Given the description of an element on the screen output the (x, y) to click on. 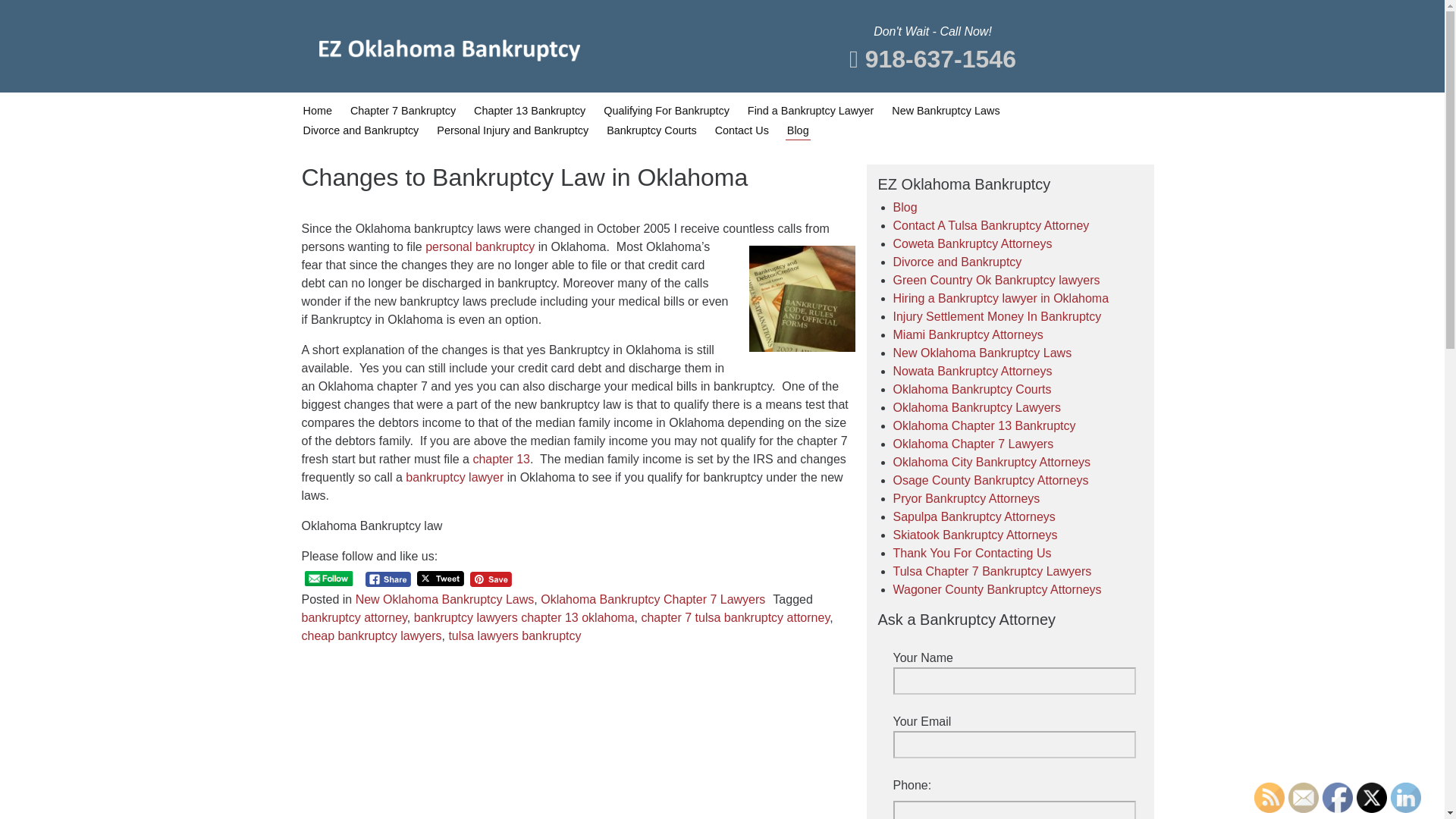
Blog (798, 130)
Oklahoma Bankruptcy Chapter 7 Lawyers (652, 599)
Divorce and Bankruptcy (957, 261)
call oklahoma bankruptcy lawyers (454, 477)
oklahoma chapter 7 lawyers (479, 246)
Green Country Ok Bankruptcy lawyers (996, 279)
Bankruptcy Courts (651, 130)
Bankruptcy Courts (651, 130)
Chapter 7 Bankruptcy (403, 111)
personal bankruptcy (479, 246)
Find a Bankruptcy Lawyer (810, 111)
Contact Us (741, 130)
Contact A Tulsa Bankruptcy Attorney (991, 225)
chapter 13 (500, 459)
chapter 7 tulsa bankruptcy attorney (734, 617)
